Given the description of an element on the screen output the (x, y) to click on. 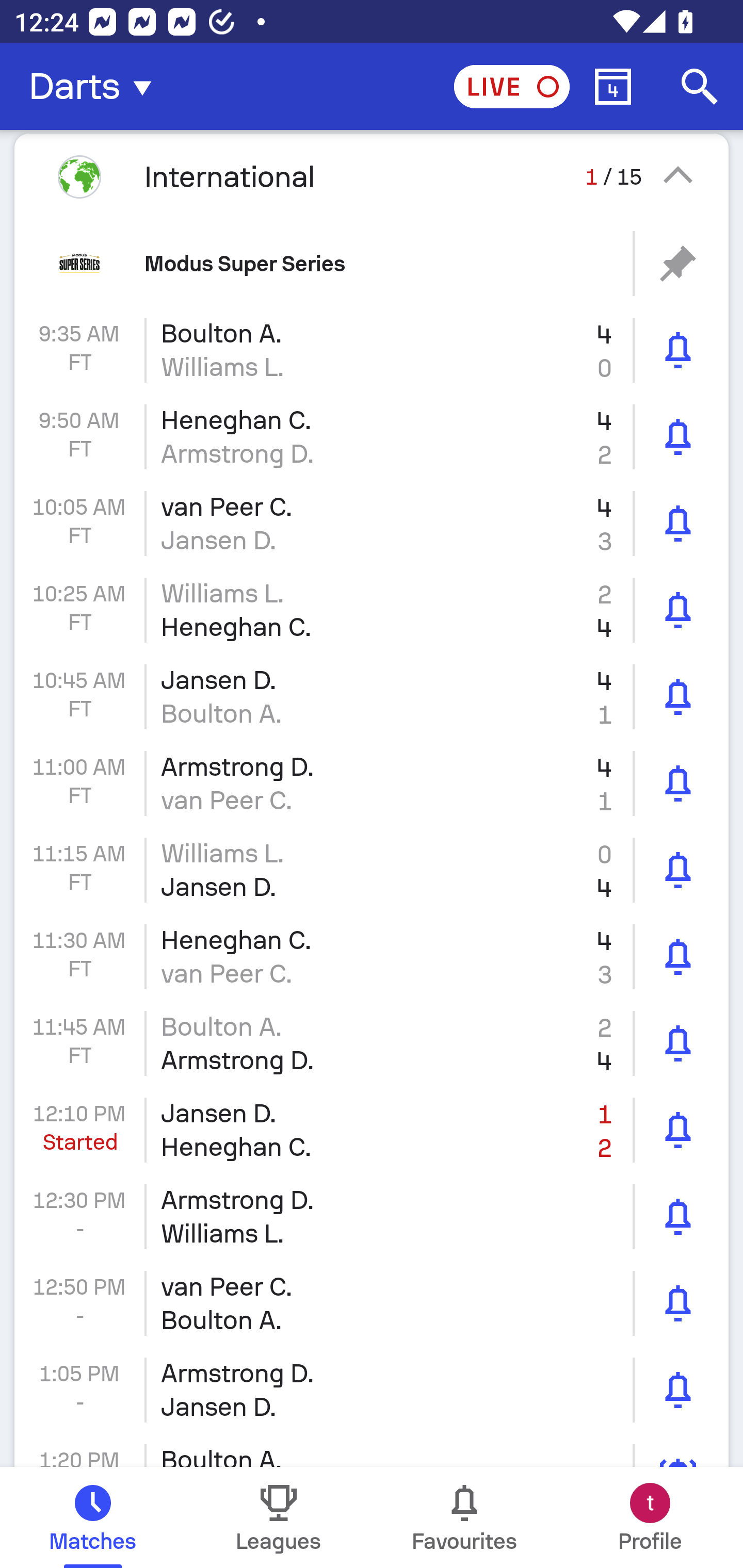
Darts (96, 86)
Calendar (612, 86)
Search (699, 86)
International 1 / 15 (371, 176)
Modus Super Series (371, 263)
9:35 AM FT Boulton A. 4 Williams L. 0 (371, 350)
9:50 AM FT Heneghan C. 4 Armstrong D. 2 (371, 436)
10:05 AM FT van Peer C. 4 Jansen D. 3 (371, 523)
10:25 AM FT Williams L. 2 Heneghan C. 4 (371, 610)
10:45 AM FT Jansen D. 4 Boulton A. 1 (371, 696)
11:00 AM FT Armstrong D. 4 van Peer C. 1 (371, 783)
11:15 AM FT Williams L. 0 Jansen D. 4 (371, 870)
11:30 AM FT Heneghan C. 4 van Peer C. 3 (371, 957)
11:45 AM FT Boulton A. 2 Armstrong D. 4 (371, 1043)
12:10 PM Started Jansen D. 1 Heneghan C. 2 (371, 1129)
12:30 PM - Armstrong D. Williams L. (371, 1216)
12:50 PM - van Peer C. Boulton A. (371, 1303)
1:05 PM - Armstrong D. Jansen D. (371, 1389)
Leagues (278, 1517)
Favourites (464, 1517)
Profile (650, 1517)
